Given the description of an element on the screen output the (x, y) to click on. 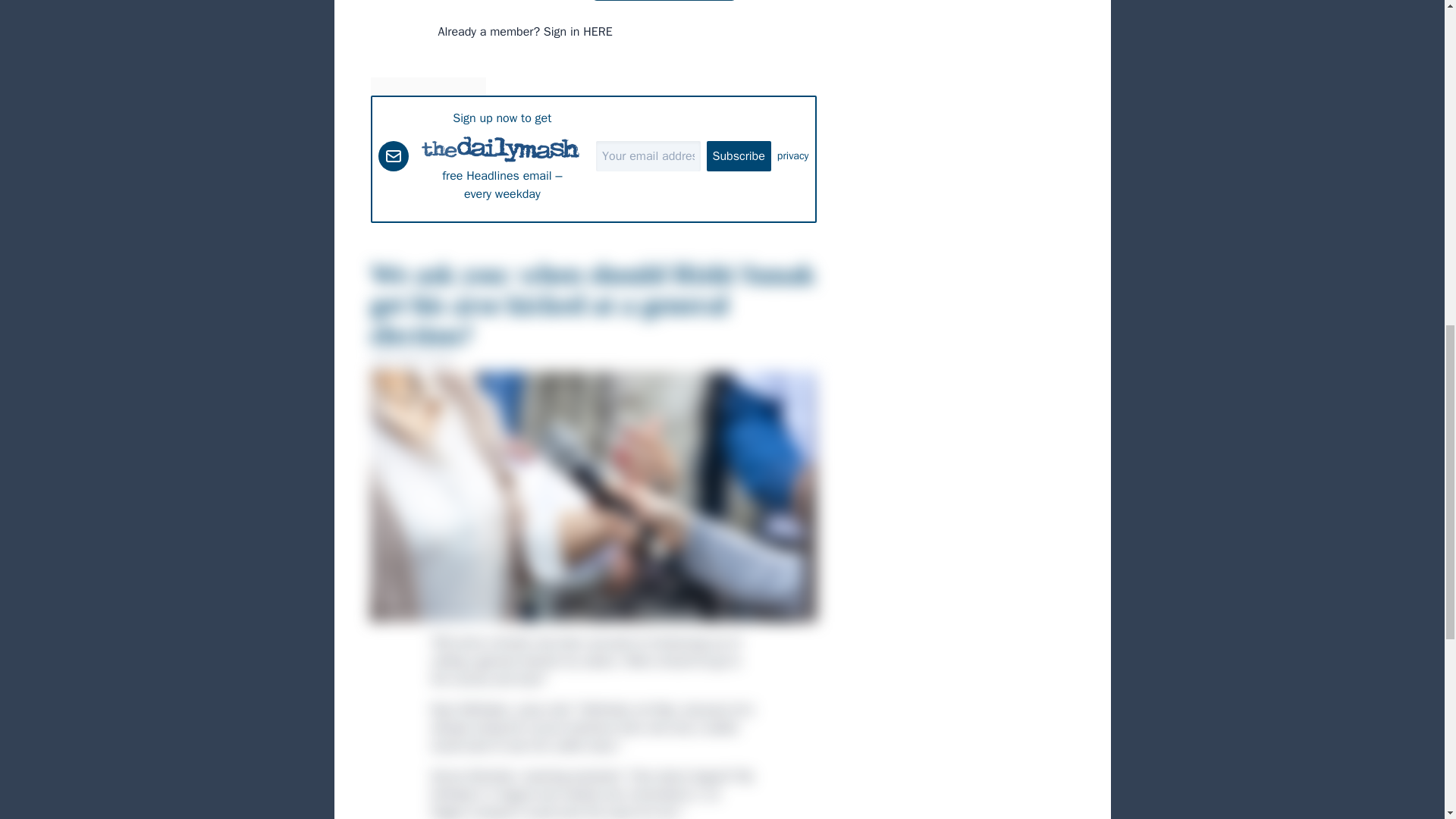
privacy (793, 155)
Subscribe (738, 155)
